Given the description of an element on the screen output the (x, y) to click on. 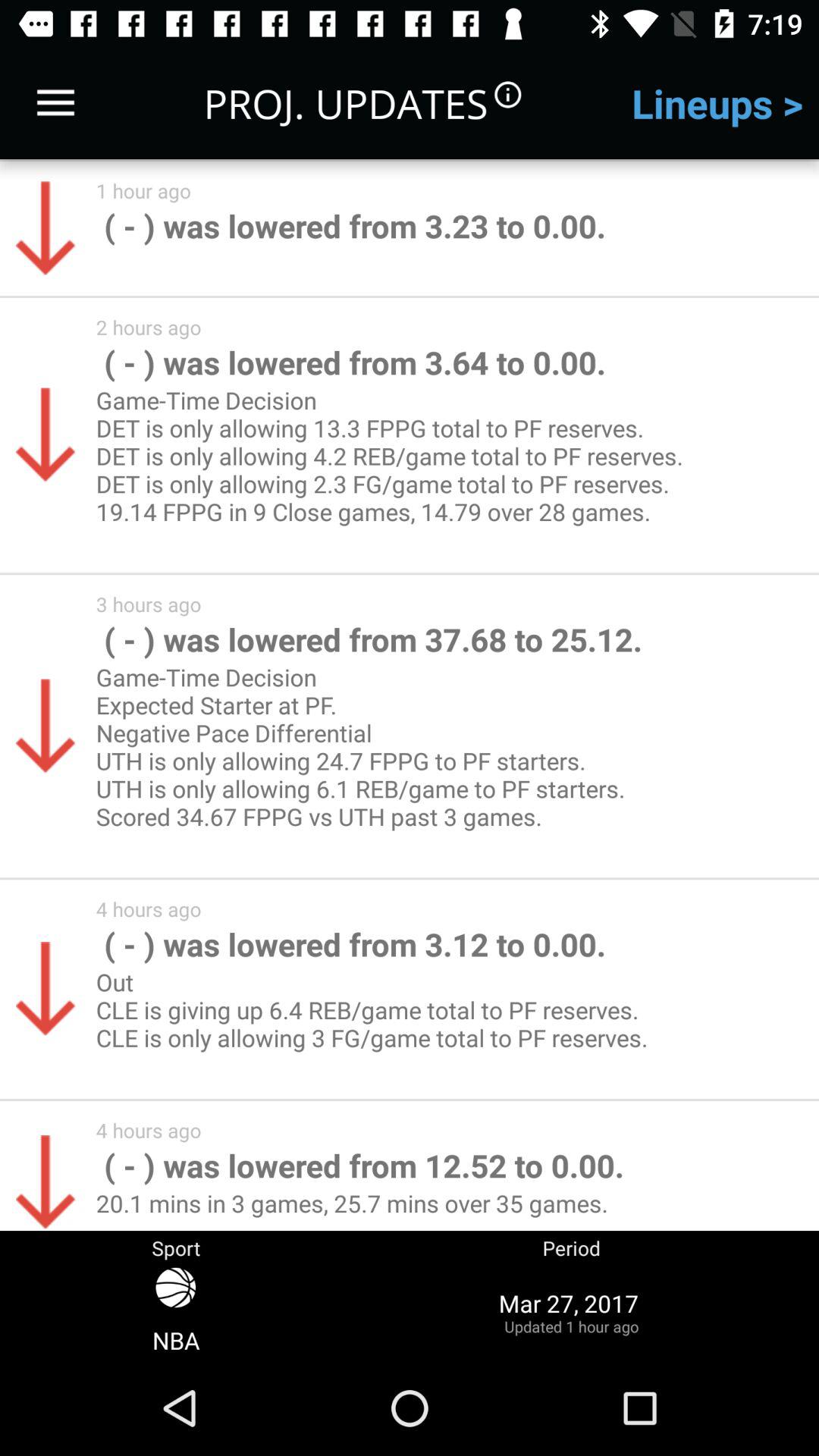
turn on the out cle is item (378, 1023)
